Given the description of an element on the screen output the (x, y) to click on. 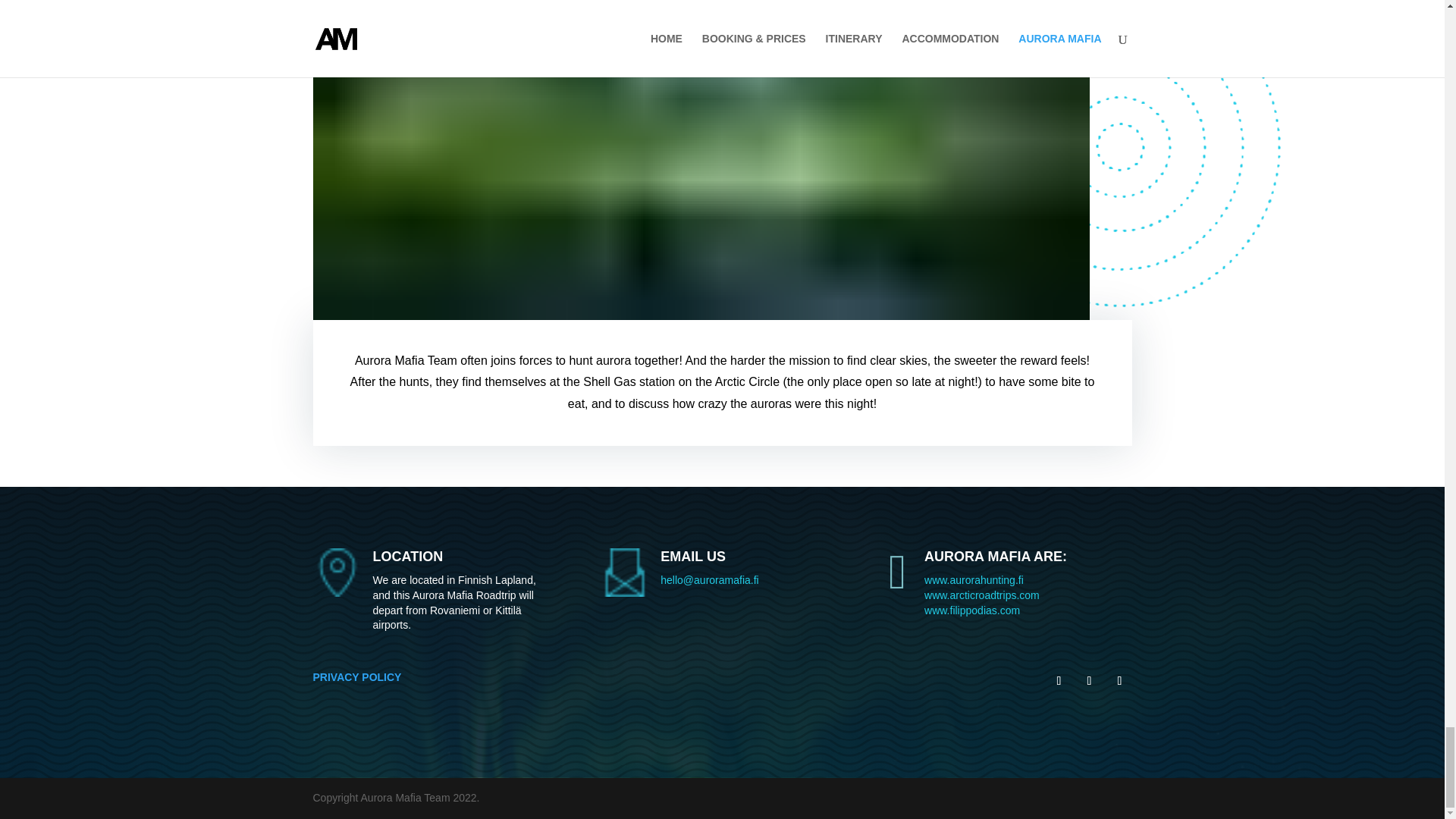
www.aurorahunting.fi (973, 580)
Follow on X (1088, 680)
Follow on Instagram (1118, 680)
PRIVACY POLICY (357, 676)
Follow on Facebook (1058, 680)
www.filippodias.com (972, 610)
www.arcticroadtrips.com (981, 594)
